Given the description of an element on the screen output the (x, y) to click on. 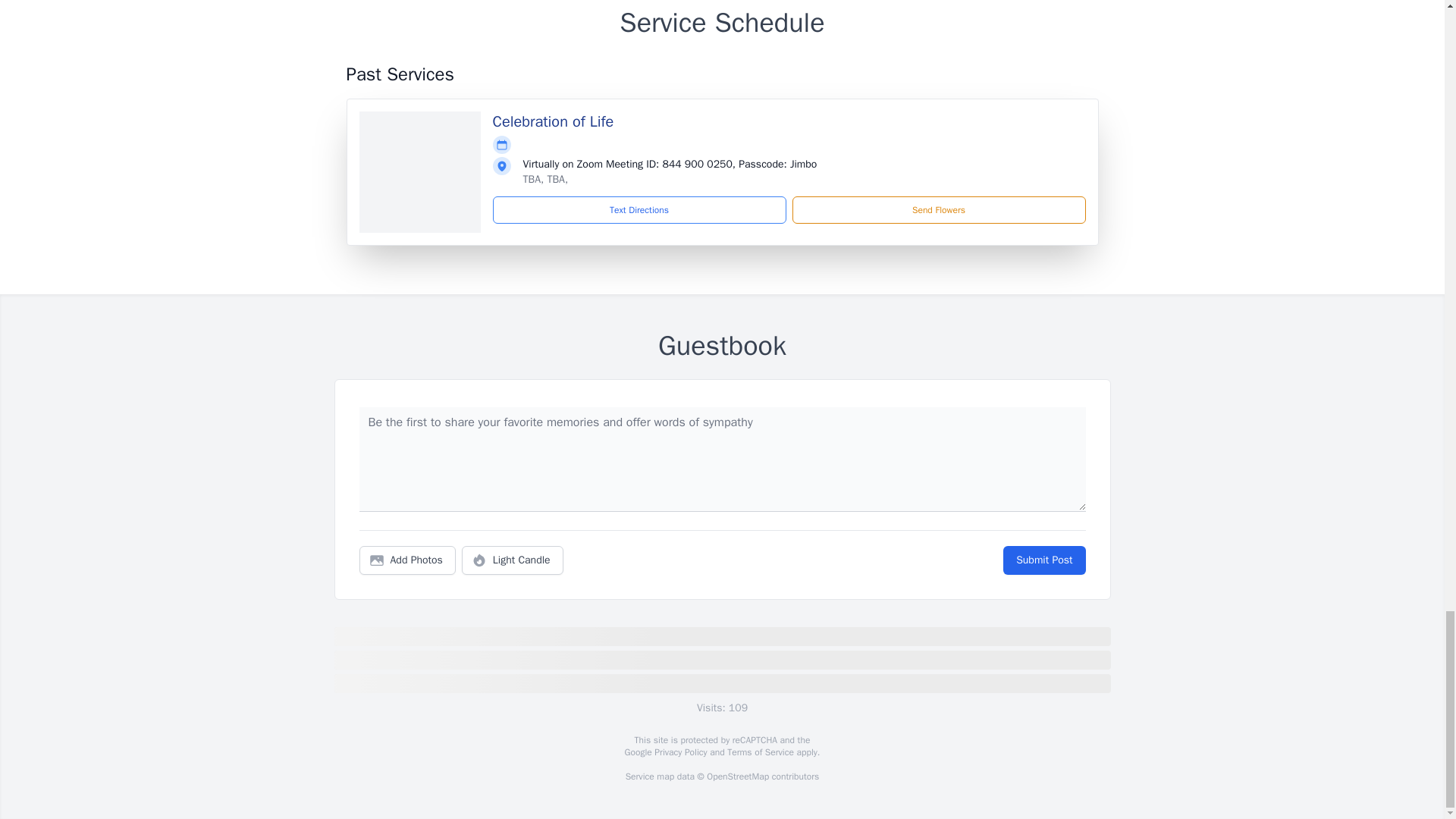
Submit Post (1043, 560)
Send Flowers (938, 209)
Light Candle (512, 560)
TBA, TBA, (545, 178)
Text Directions (639, 209)
Privacy Policy (679, 752)
Terms of Service (759, 752)
Add Photos (407, 560)
OpenStreetMap (737, 776)
